Given the description of an element on the screen output the (x, y) to click on. 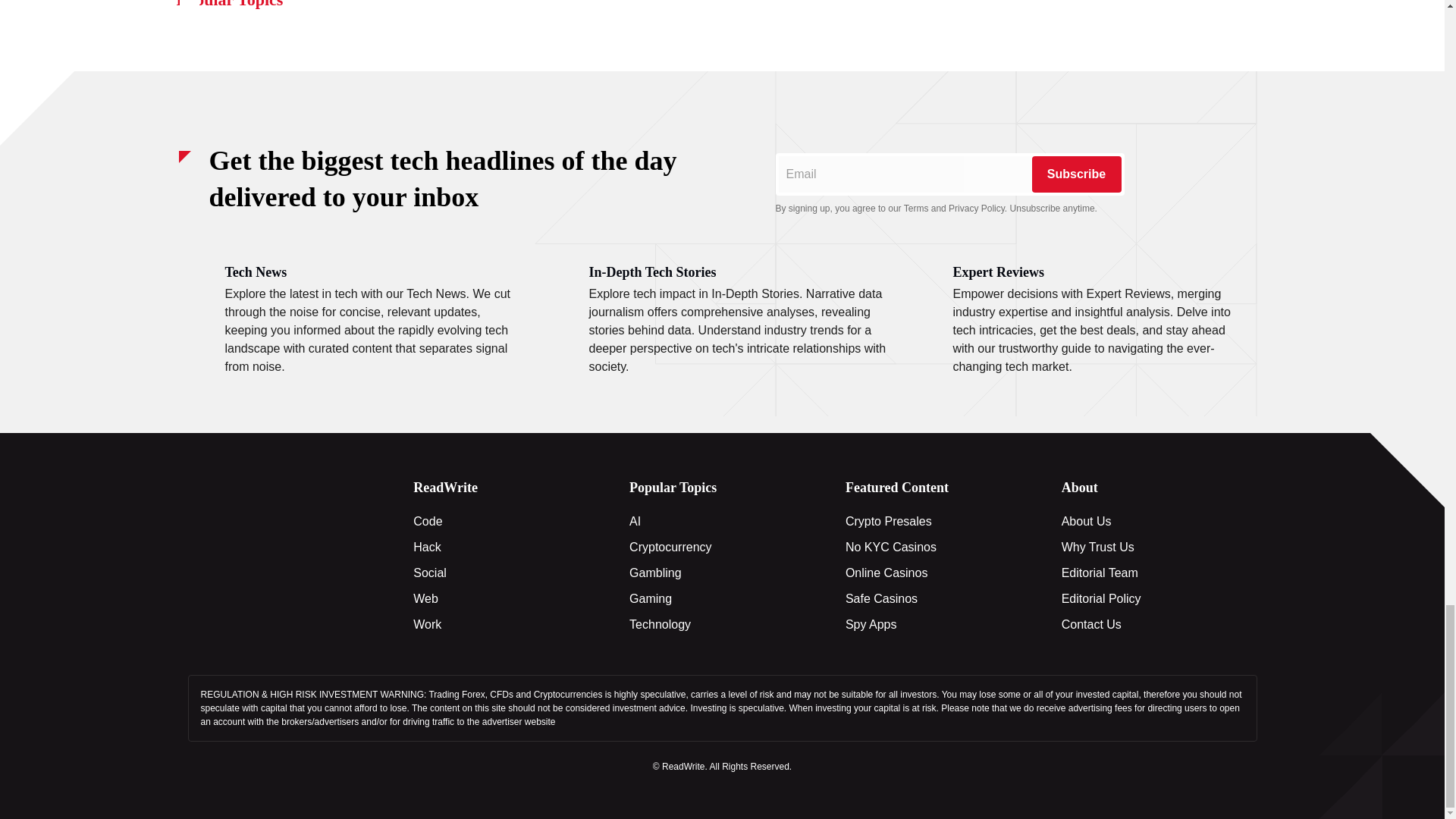
Subscribe (1075, 174)
